Given the description of an element on the screen output the (x, y) to click on. 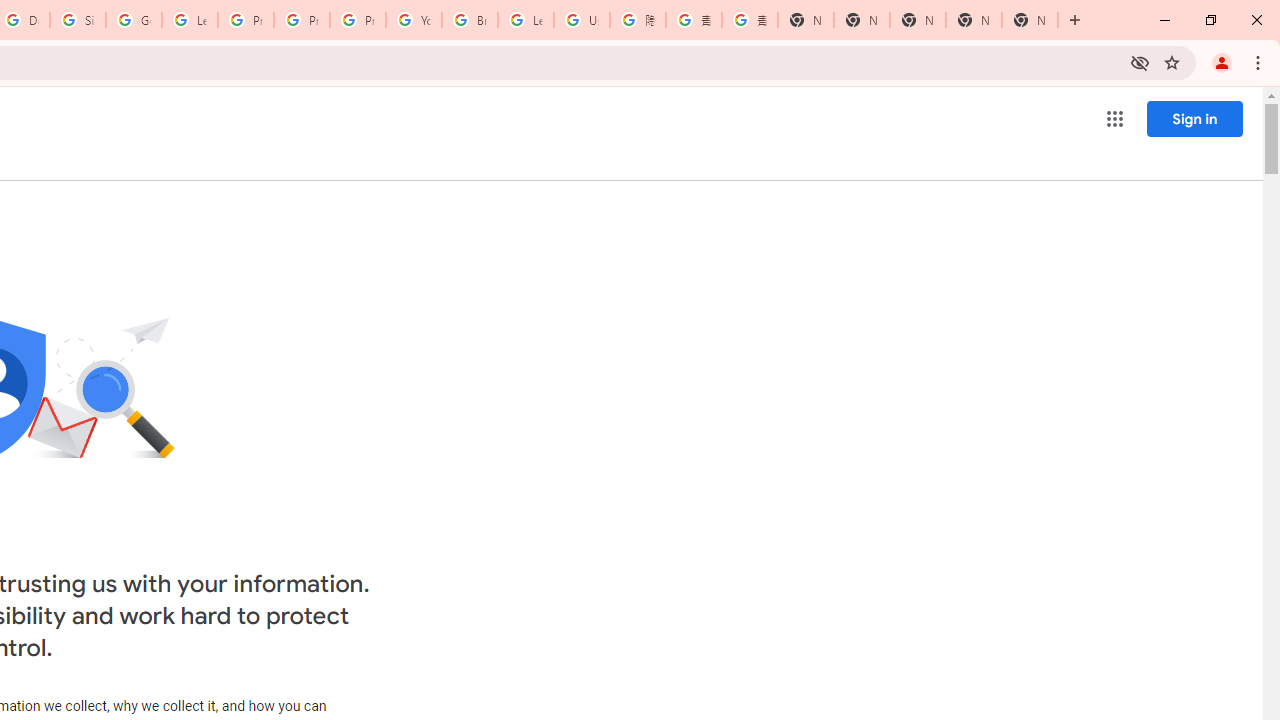
YouTube (413, 20)
Privacy Help Center - Policies Help (301, 20)
New Tab (806, 20)
